Given the description of an element on the screen output the (x, y) to click on. 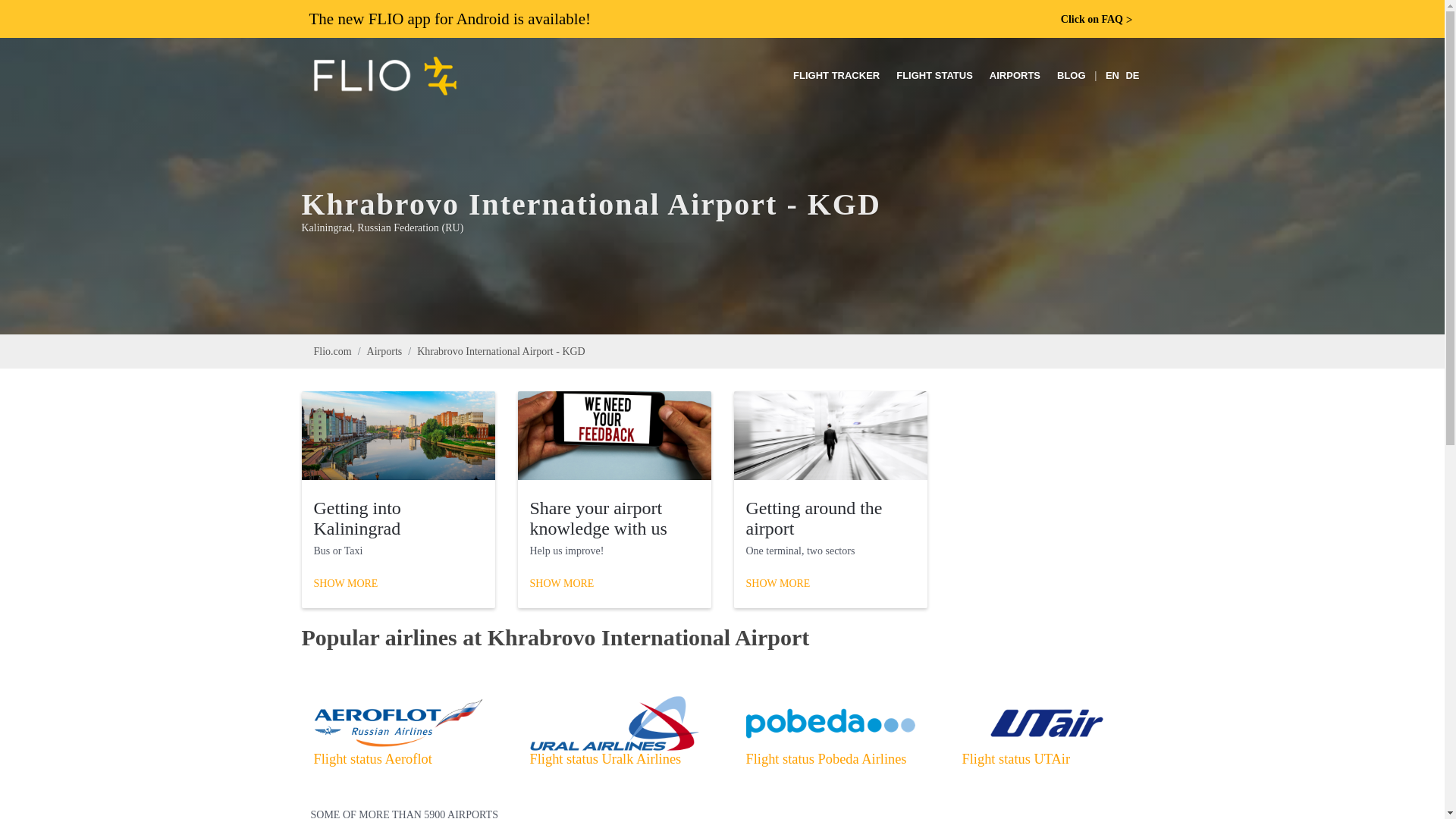
FLIGHT STATUS (933, 75)
SHOW MORE (346, 583)
Flio.com (333, 351)
Flight status UTAir (1015, 758)
SHOW MORE (777, 583)
Flight status Aeroflot (373, 758)
FLIGHT TRACKER (836, 75)
Flight status Uralk Airlines (605, 758)
Airports (384, 351)
Flight status Pobeda Airlines (826, 758)
SHOW MORE (561, 583)
